Given the description of an element on the screen output the (x, y) to click on. 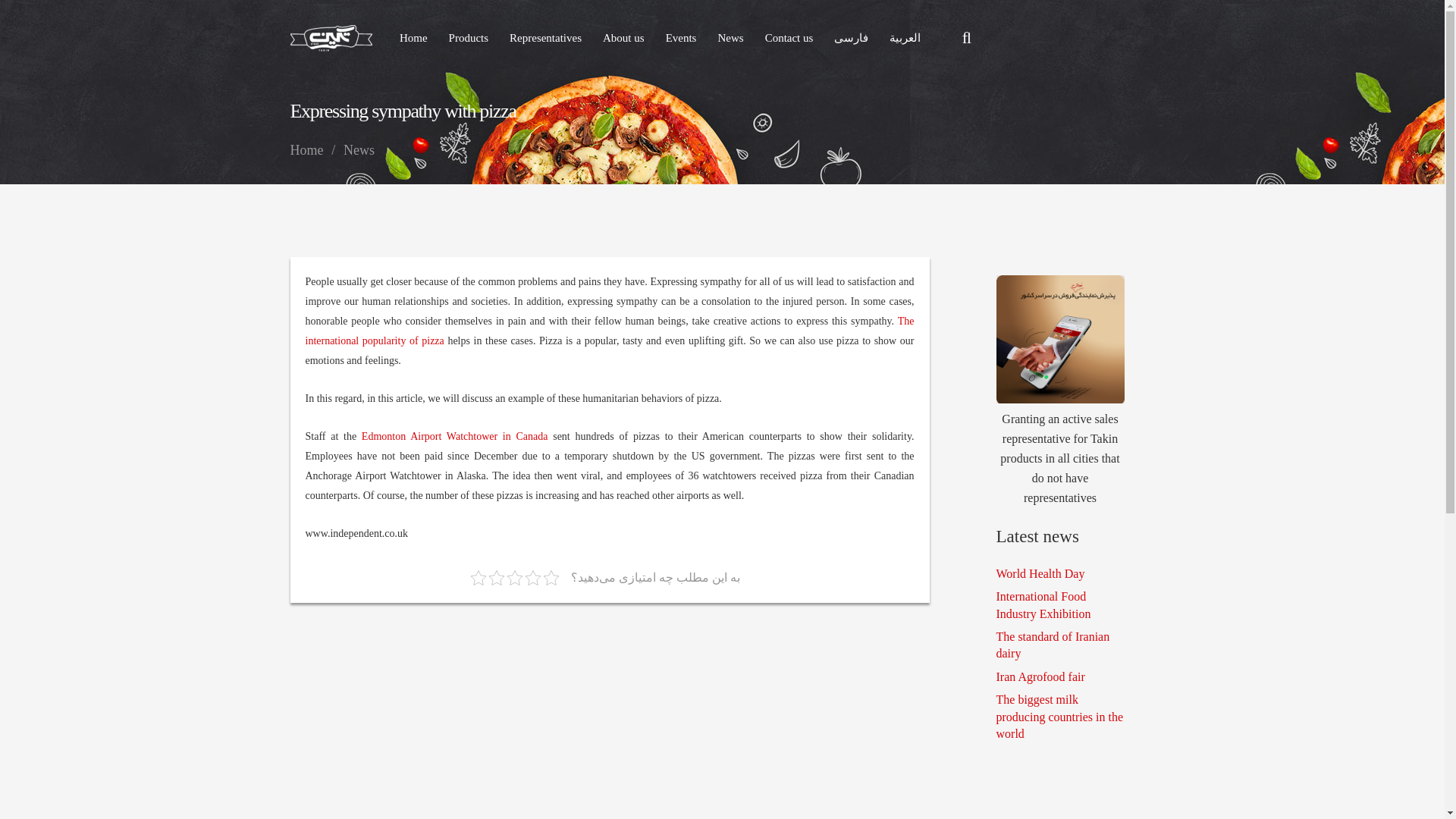
Home (413, 37)
The international popularity of pizza (609, 330)
News (358, 150)
About us (623, 37)
Contact us (789, 37)
International Food Industry Exhibition (1042, 604)
Representatives (545, 37)
Events (681, 37)
World Health Day (1039, 573)
Products (468, 37)
The standard of Iranian dairy (1052, 644)
Home (306, 150)
Iran Agrofood fair (1039, 676)
Edmonton Airport Watchtower in Canada (454, 436)
News (730, 37)
